Given the description of an element on the screen output the (x, y) to click on. 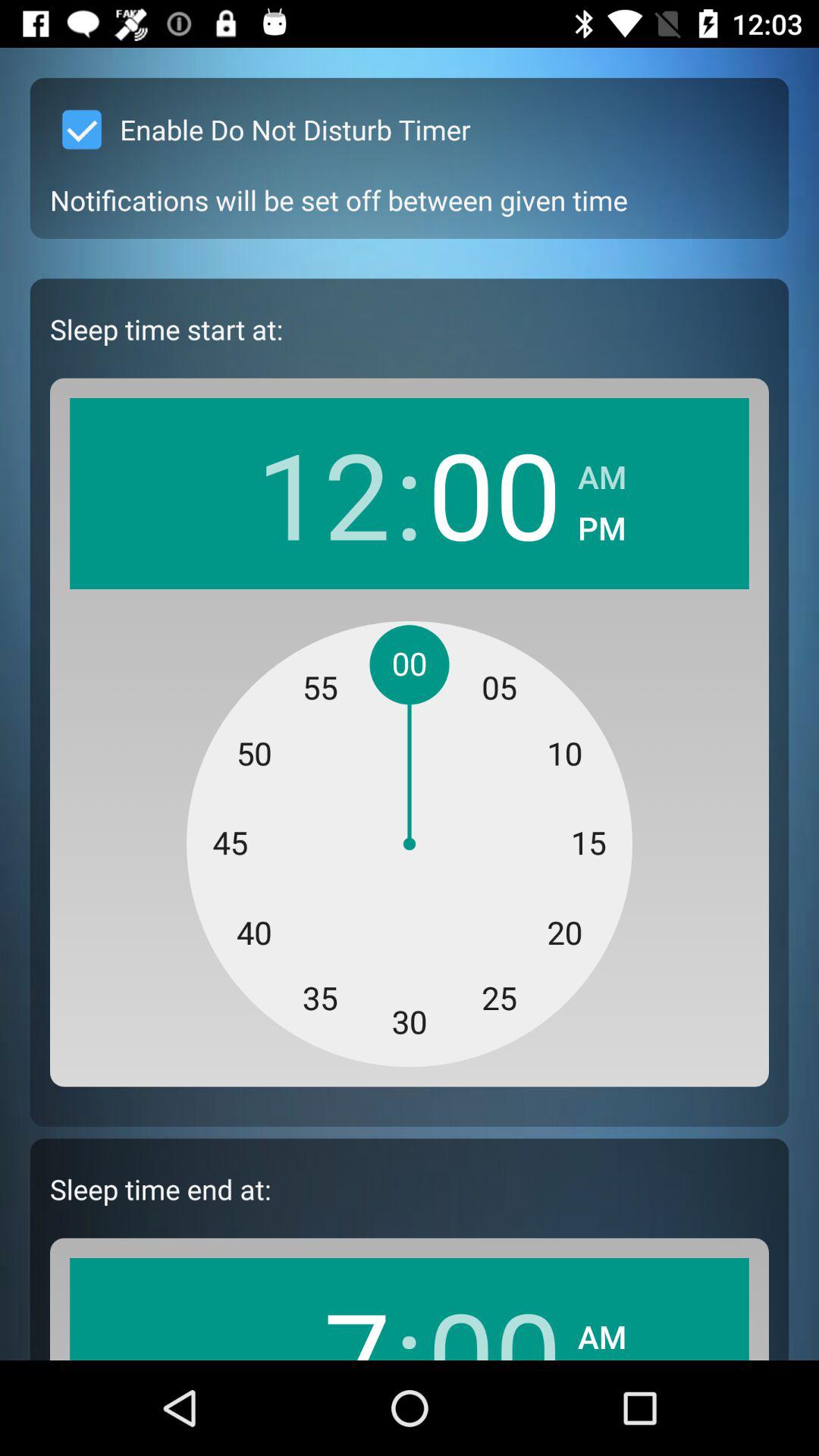
launch item next to : app (323, 493)
